Given the description of an element on the screen output the (x, y) to click on. 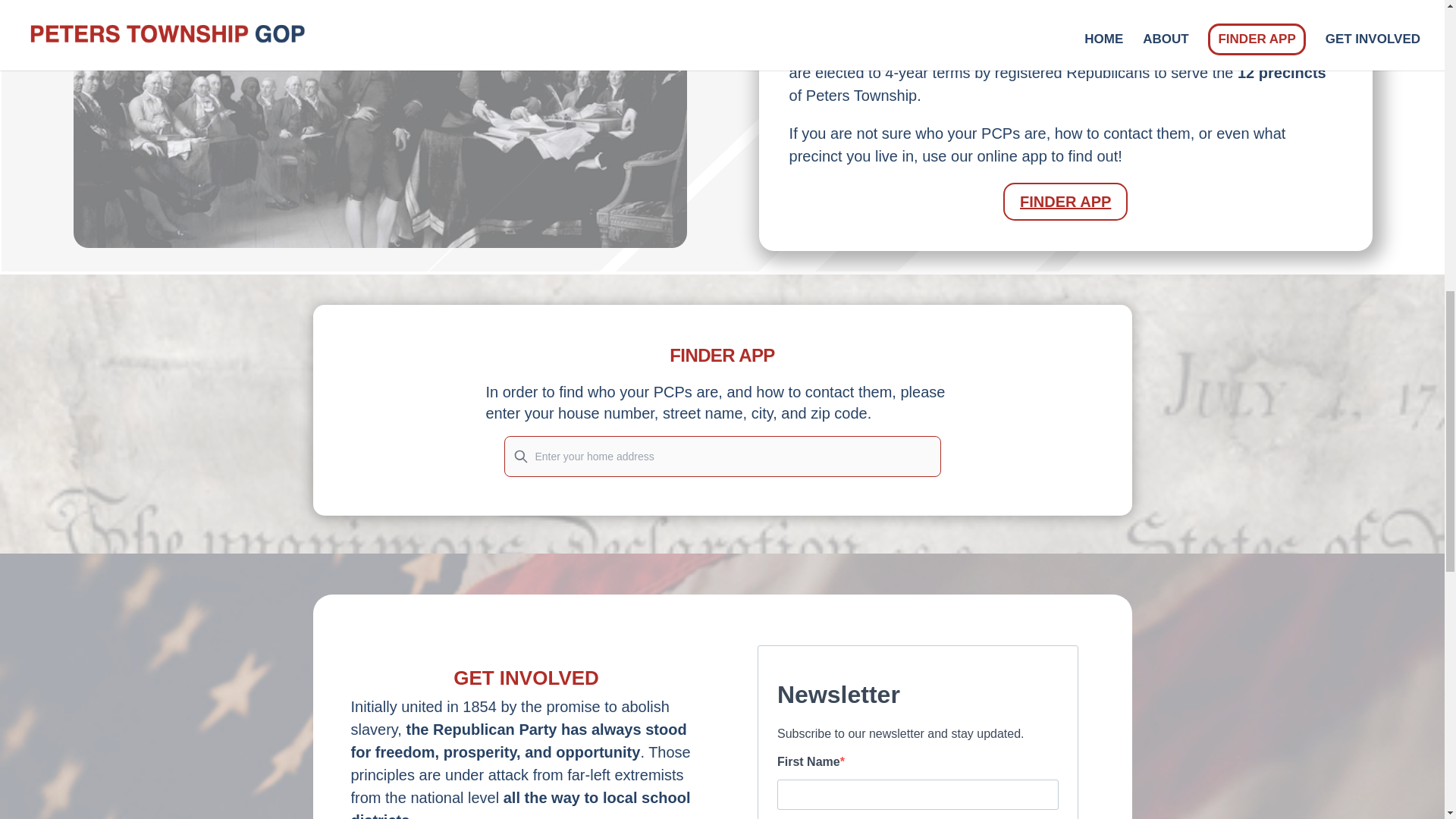
FINDER APP (1064, 201)
